Given the description of an element on the screen output the (x, y) to click on. 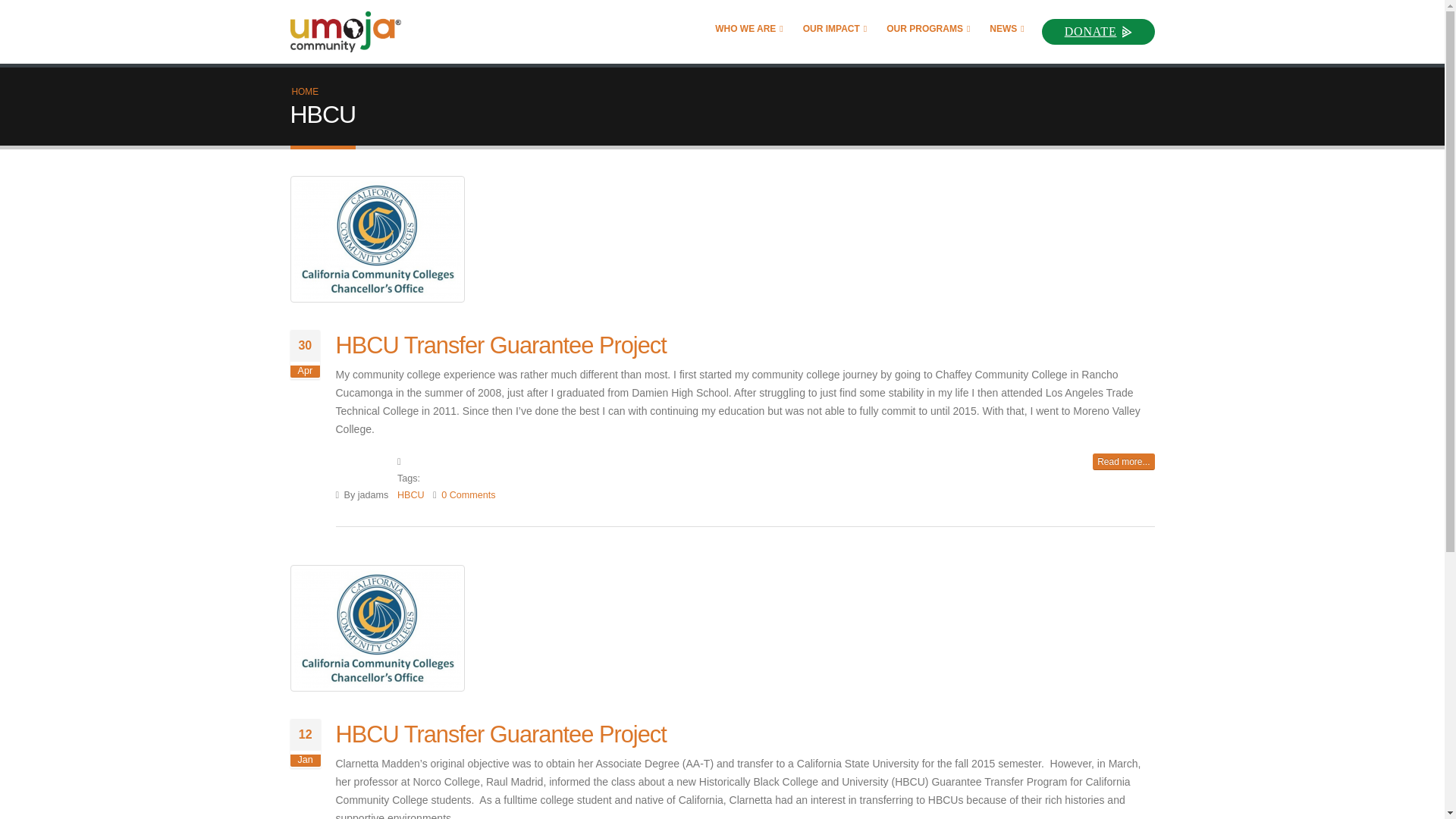
DONATE (1098, 31)
HBCU Transfer Guarantee Project (499, 345)
HBCU Transfer Guarantee Project (499, 734)
0 Comments (468, 494)
Read more... (1123, 461)
HBCU (411, 494)
HOME (304, 91)
Home (351, 31)
